Given the description of an element on the screen output the (x, y) to click on. 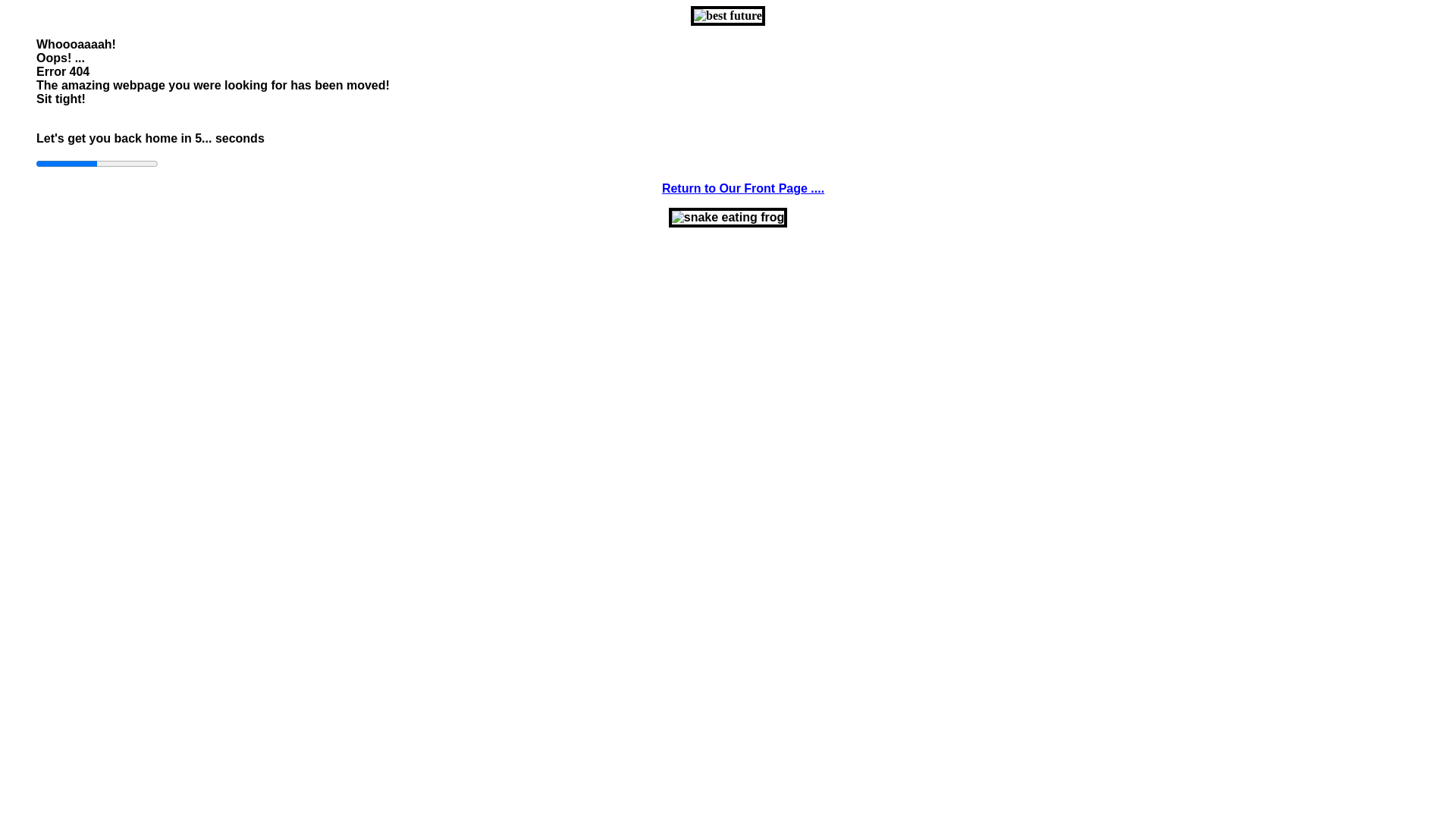
Better future Element type: hover (727, 15)
Eating snake Element type: hover (727, 217)
Return to Our Front Page .... Element type: text (743, 188)
